Given the description of an element on the screen output the (x, y) to click on. 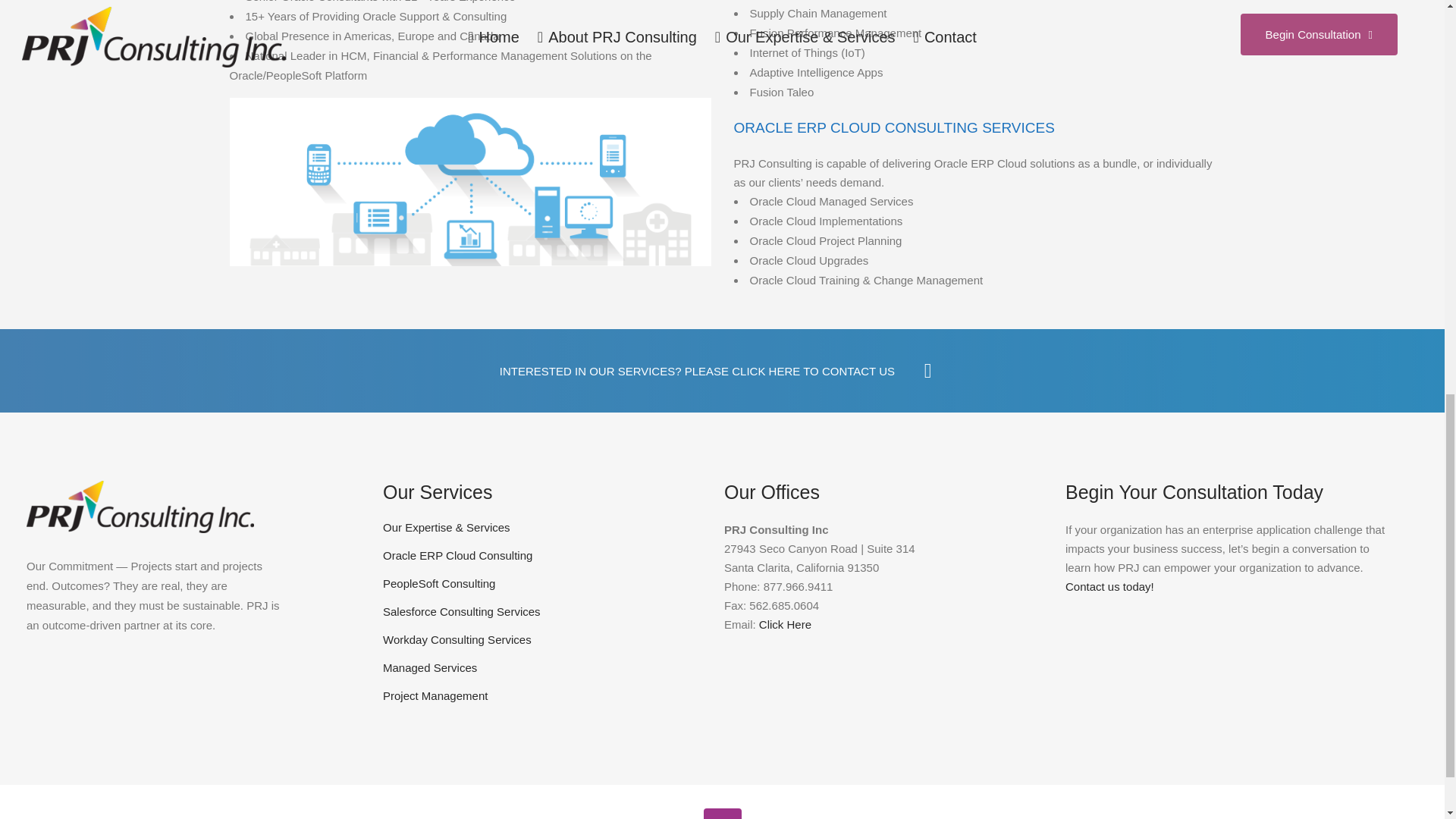
Click Here (784, 624)
Contact us today! (1109, 585)
Oracle ERP Cloud Consulting (541, 555)
Workday Consulting Services (541, 639)
Salesforce Consulting Services (541, 611)
Managed Services (541, 667)
PeopleSoft Consulting (541, 583)
Project Management (541, 695)
